Given the description of an element on the screen output the (x, y) to click on. 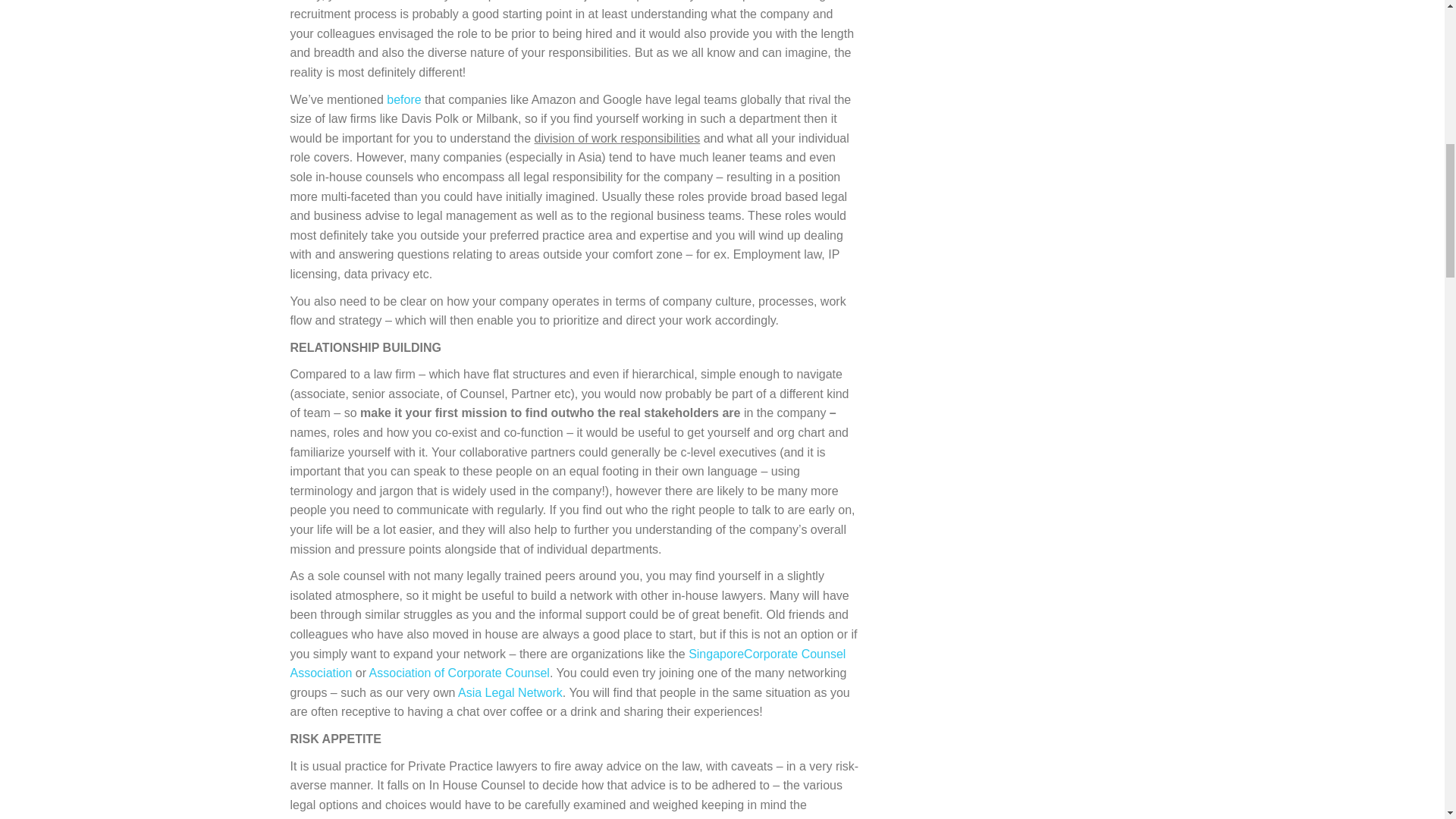
SingaporeCorporate Counsel Association (567, 663)
before (403, 99)
Asia Legal Network (510, 692)
Association of Corporate Counsel (459, 672)
